Given the description of an element on the screen output the (x, y) to click on. 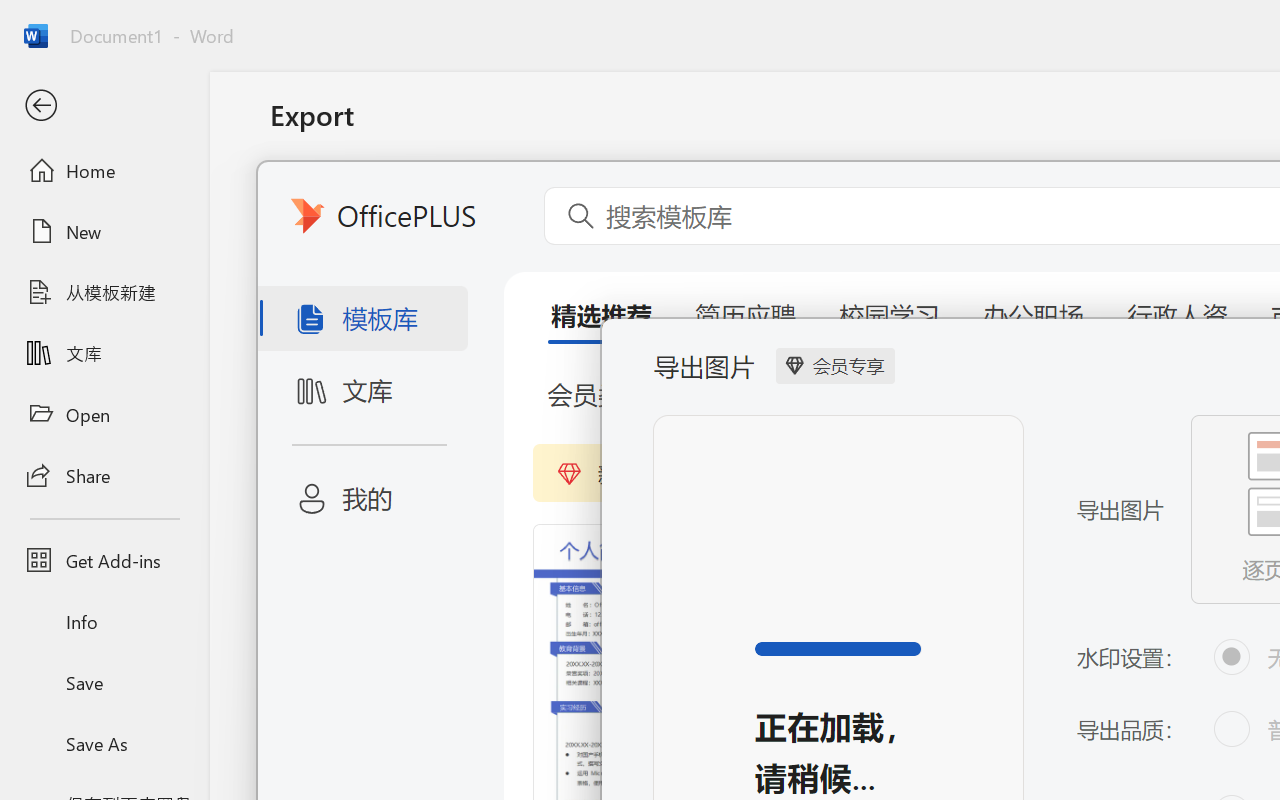
Create PDF/XPS Document (507, 205)
Get Add-ins (104, 560)
